Given the description of an element on the screen output the (x, y) to click on. 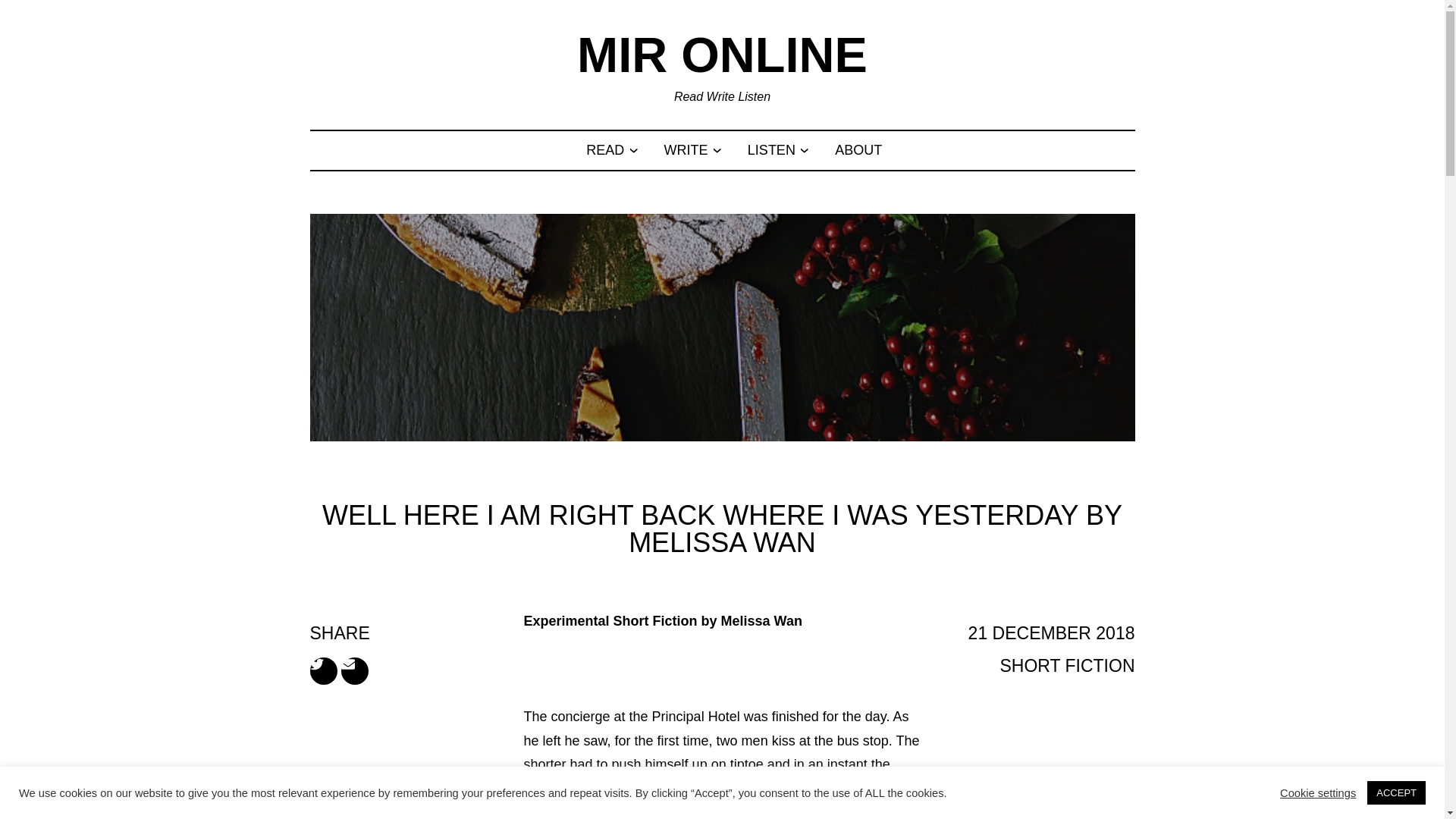
ACCEPT (1396, 792)
SHORT FICTION (1066, 665)
Cookie settings (1317, 792)
MIR ONLINE (721, 54)
WRITE (685, 150)
READ (605, 150)
LISTEN (771, 150)
ABOUT (858, 150)
